Given the description of an element on the screen output the (x, y) to click on. 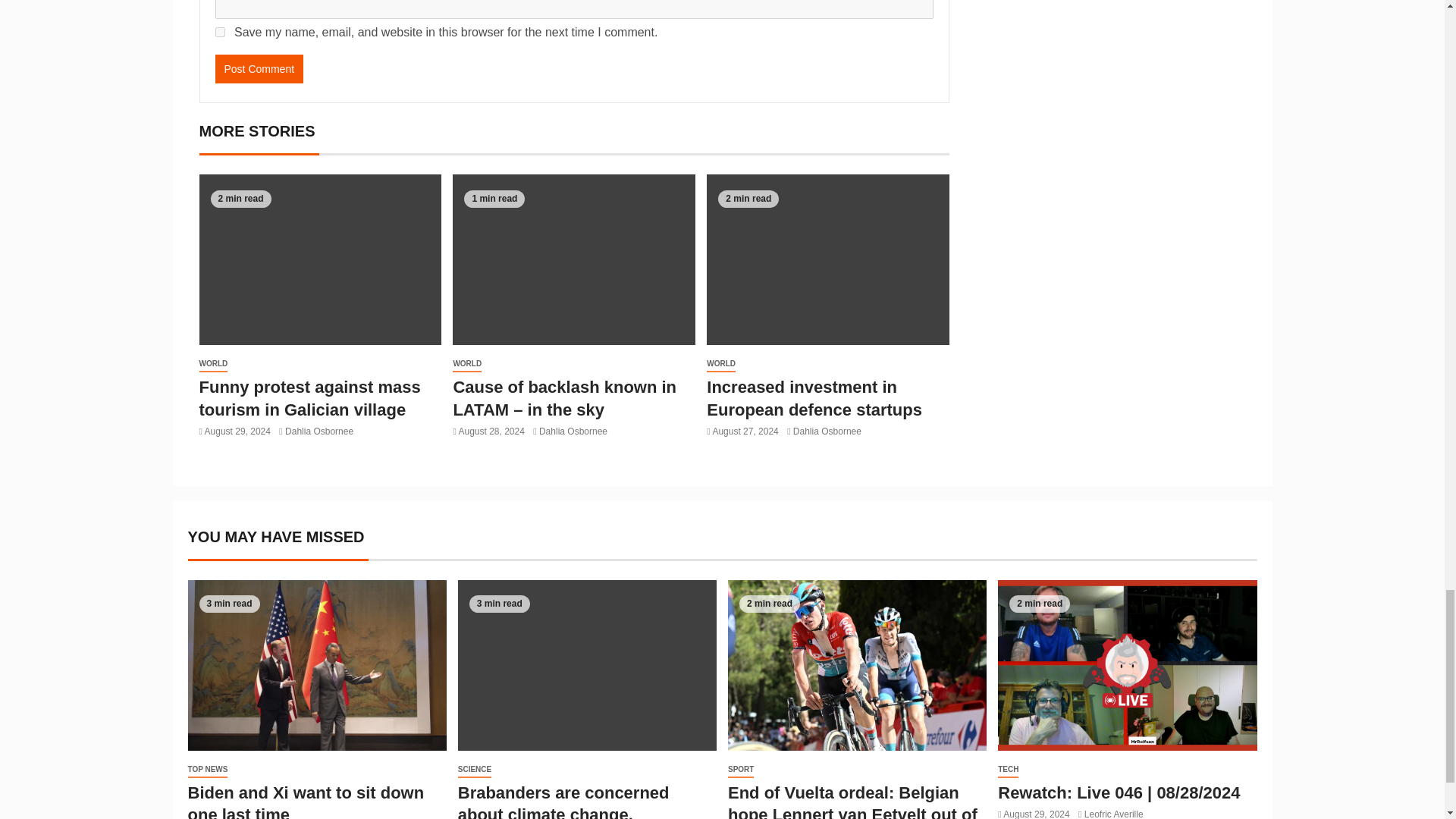
yes (220, 31)
Funny protest against mass tourism in Galician village (309, 397)
WORLD (212, 364)
Dahlia Osbornee (319, 430)
Post Comment (259, 68)
Post Comment (259, 68)
